Given the description of an element on the screen output the (x, y) to click on. 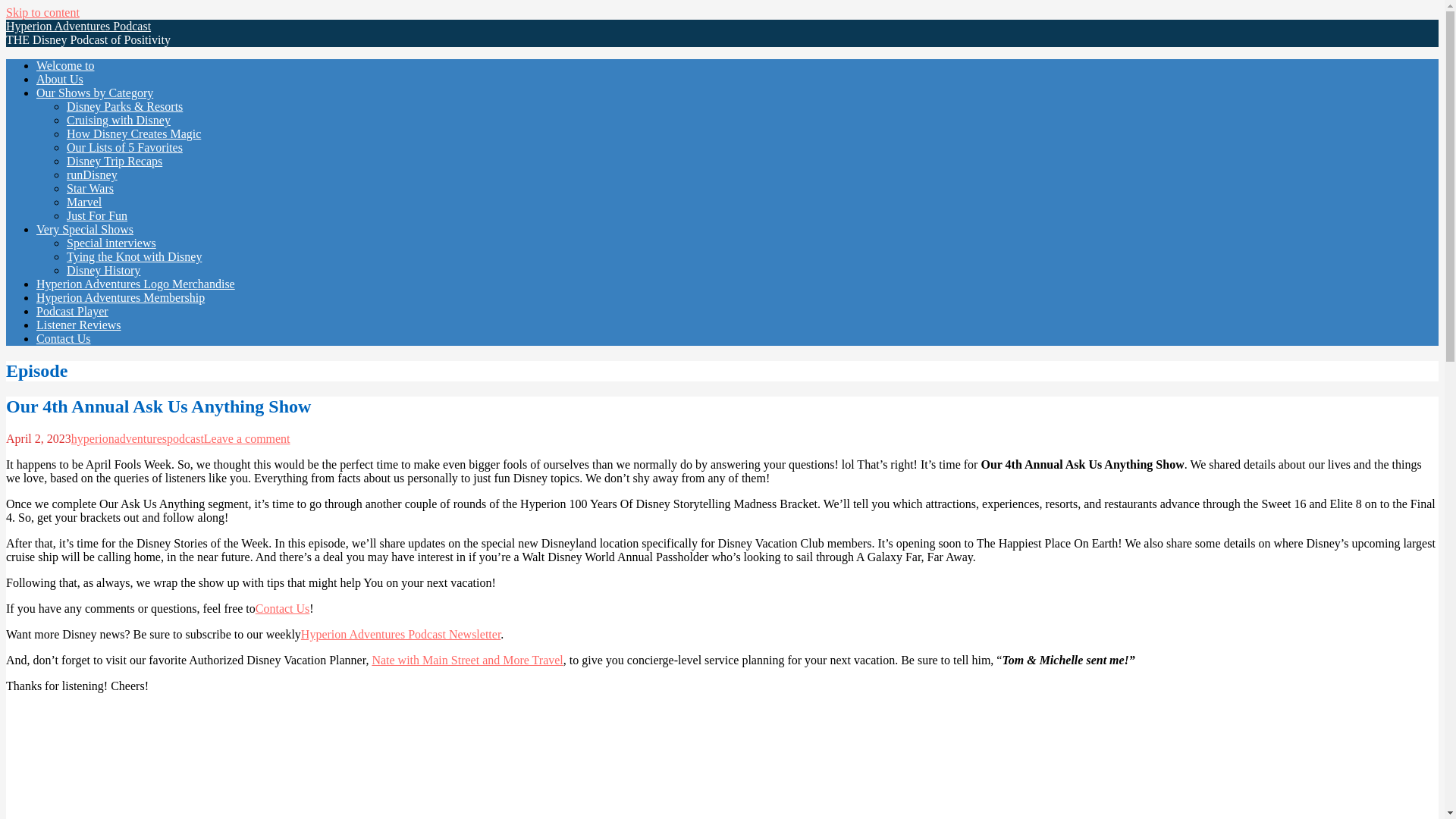
Nate with Main Street and More Travel (466, 659)
Hyperion Adventures Podcast (78, 25)
Leave a comment (246, 438)
runDisney (91, 174)
Hyperion Adventures Logo Merchandise (135, 283)
Posts by hyperionadventurespodcast (137, 438)
Disney History (102, 269)
About Us (59, 78)
Just For Fun (97, 215)
Star Wars (89, 187)
